Given the description of an element on the screen output the (x, y) to click on. 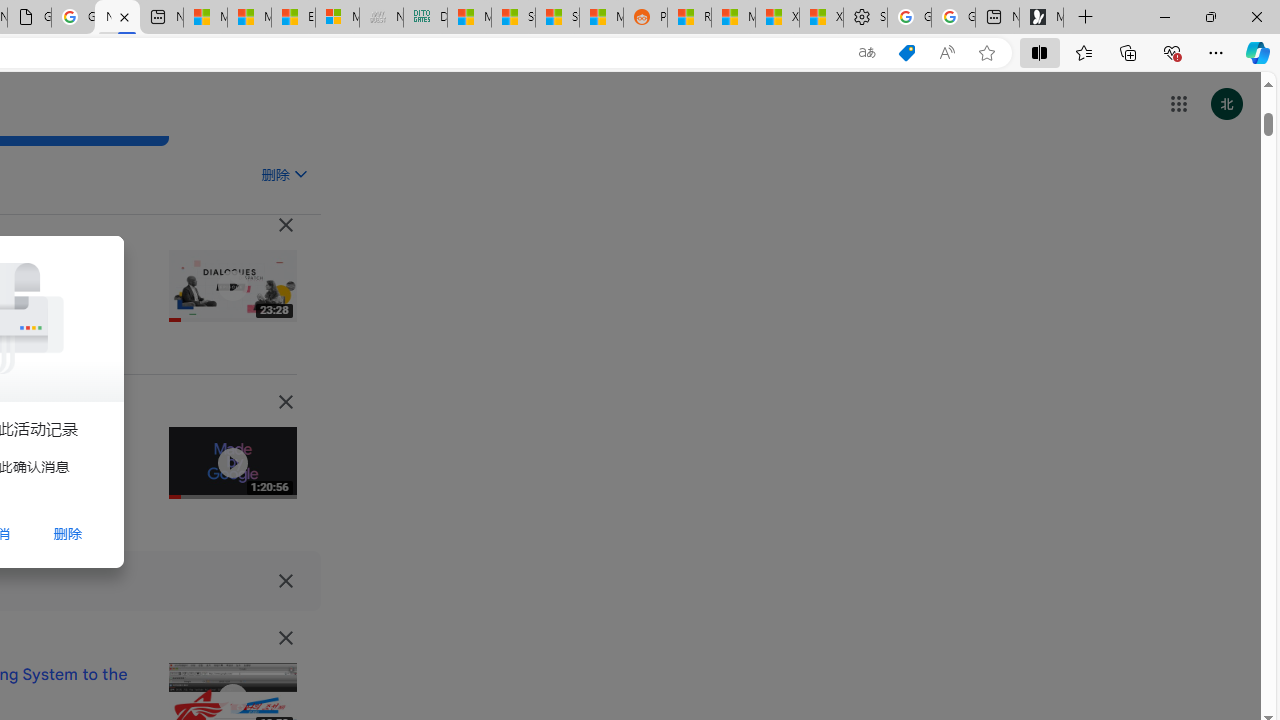
Class: IVR0f NMm5M (231, 699)
